Given the description of an element on the screen output the (x, y) to click on. 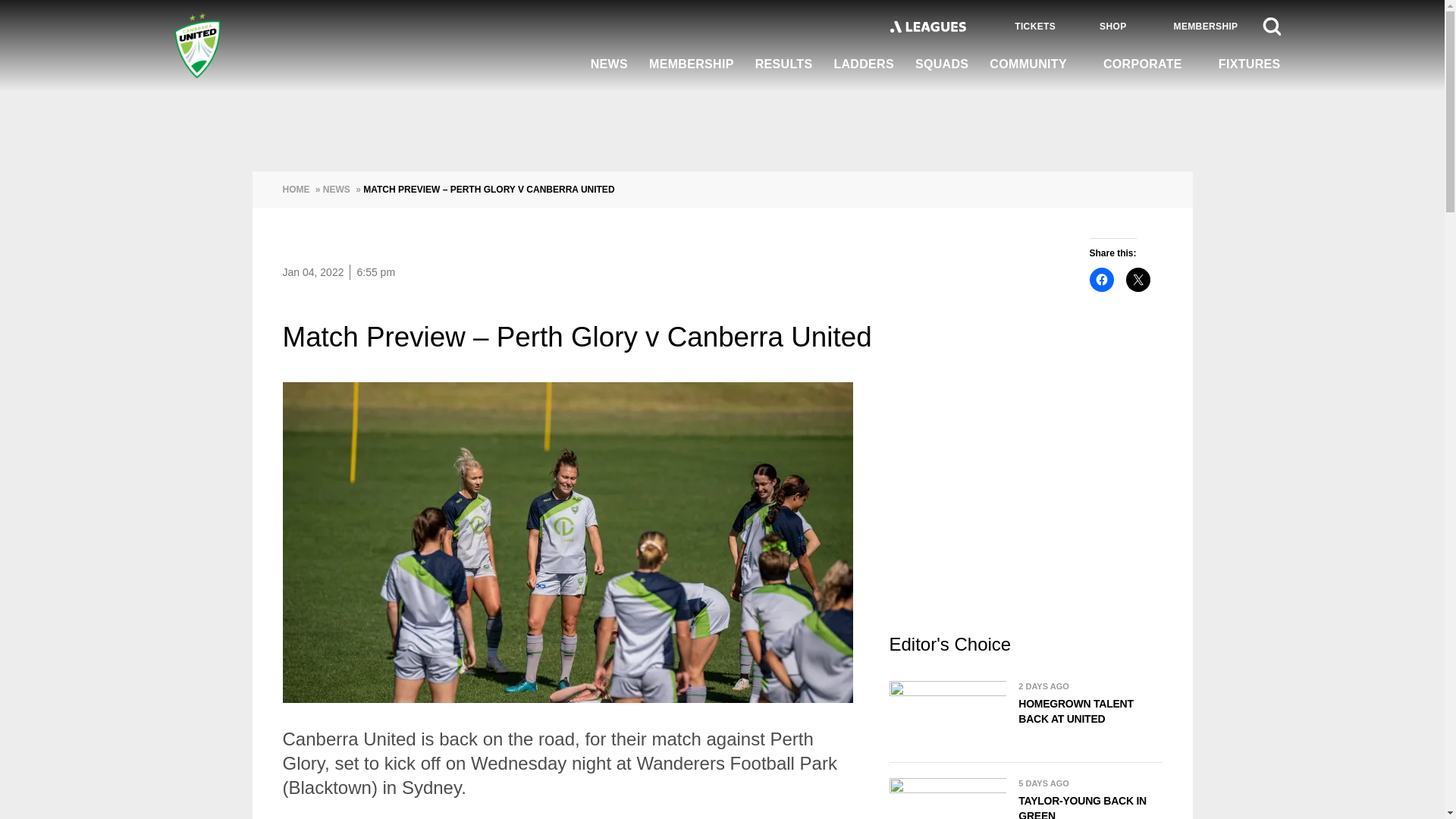
SHOP (1102, 26)
TICKETS (1022, 26)
MEMBERSHIP (691, 65)
Click to share on X (1137, 279)
SQUADS (941, 65)
FIXTURES (1244, 65)
RESULTS (784, 65)
CORPORATE (1150, 64)
MEMBERSHIP (1195, 26)
LADDERS (863, 65)
